Given the description of an element on the screen output the (x, y) to click on. 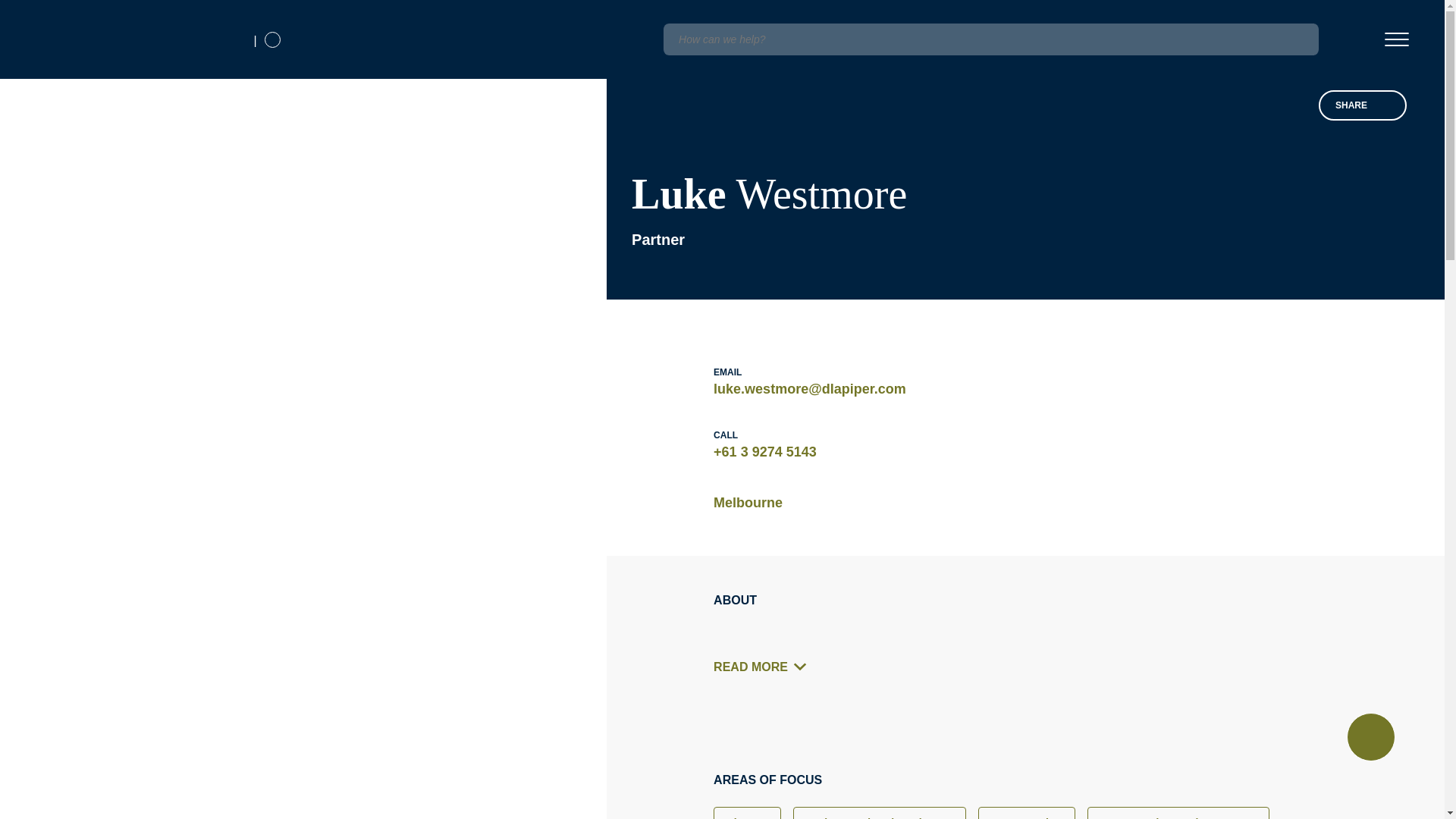
READ MORE (764, 667)
Energy and Natural Resources (1178, 812)
Finance (746, 812)
Melbourne (748, 502)
Insert a query. Press enter to send (990, 39)
Restructuring (1026, 812)
Projects and Project Finance (879, 812)
